Given the description of an element on the screen output the (x, y) to click on. 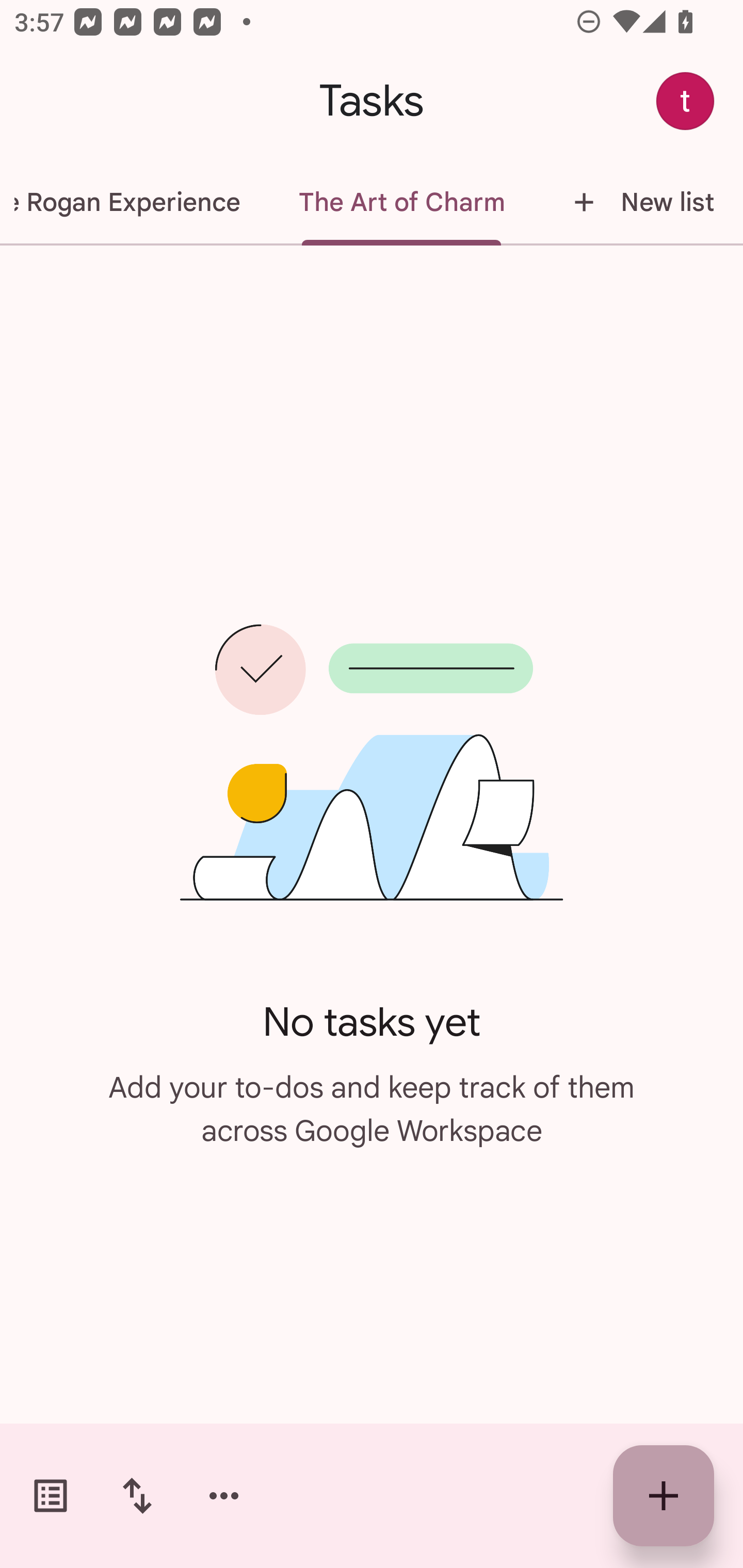
The Joe Rogan Experience (134, 202)
New list (638, 202)
Switch task lists (50, 1495)
Create new task (663, 1495)
Change sort order (136, 1495)
More options (223, 1495)
